Given the description of an element on the screen output the (x, y) to click on. 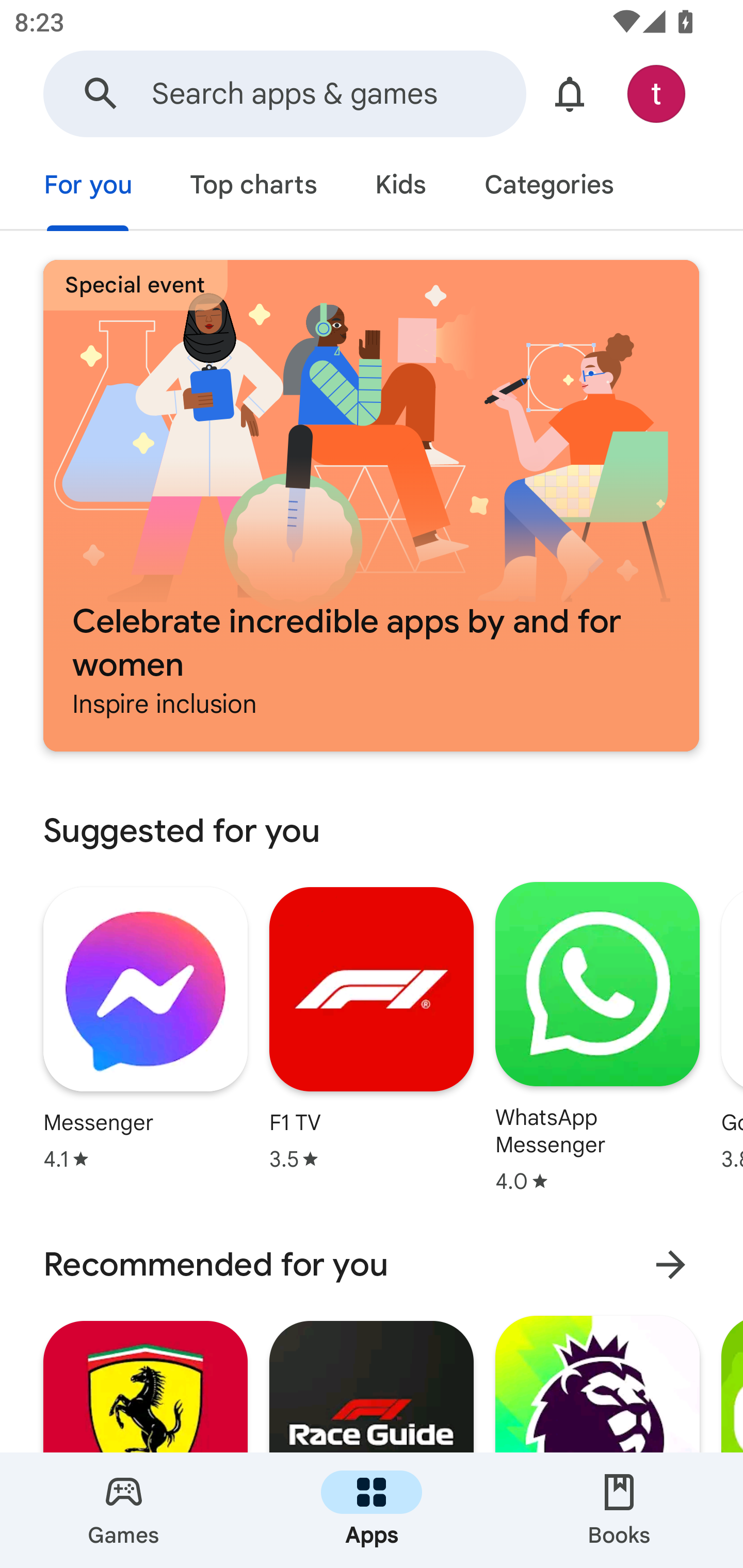
Search Google Play Search apps & games (284, 93)
Search Google Play (100, 93)
Show notifications and offers. (569, 93)
Top charts (253, 187)
Kids (400, 187)
Categories (548, 187)
Messenger
Star rating: 4.1
 (145, 1028)
F1 TV
Star rating: 3.5
 (371, 1028)
WhatsApp Messenger
Star rating: 4.0
 (597, 1037)
More results for Recommended for you (670, 1264)
Games (123, 1509)
Books (619, 1509)
